Given the description of an element on the screen output the (x, y) to click on. 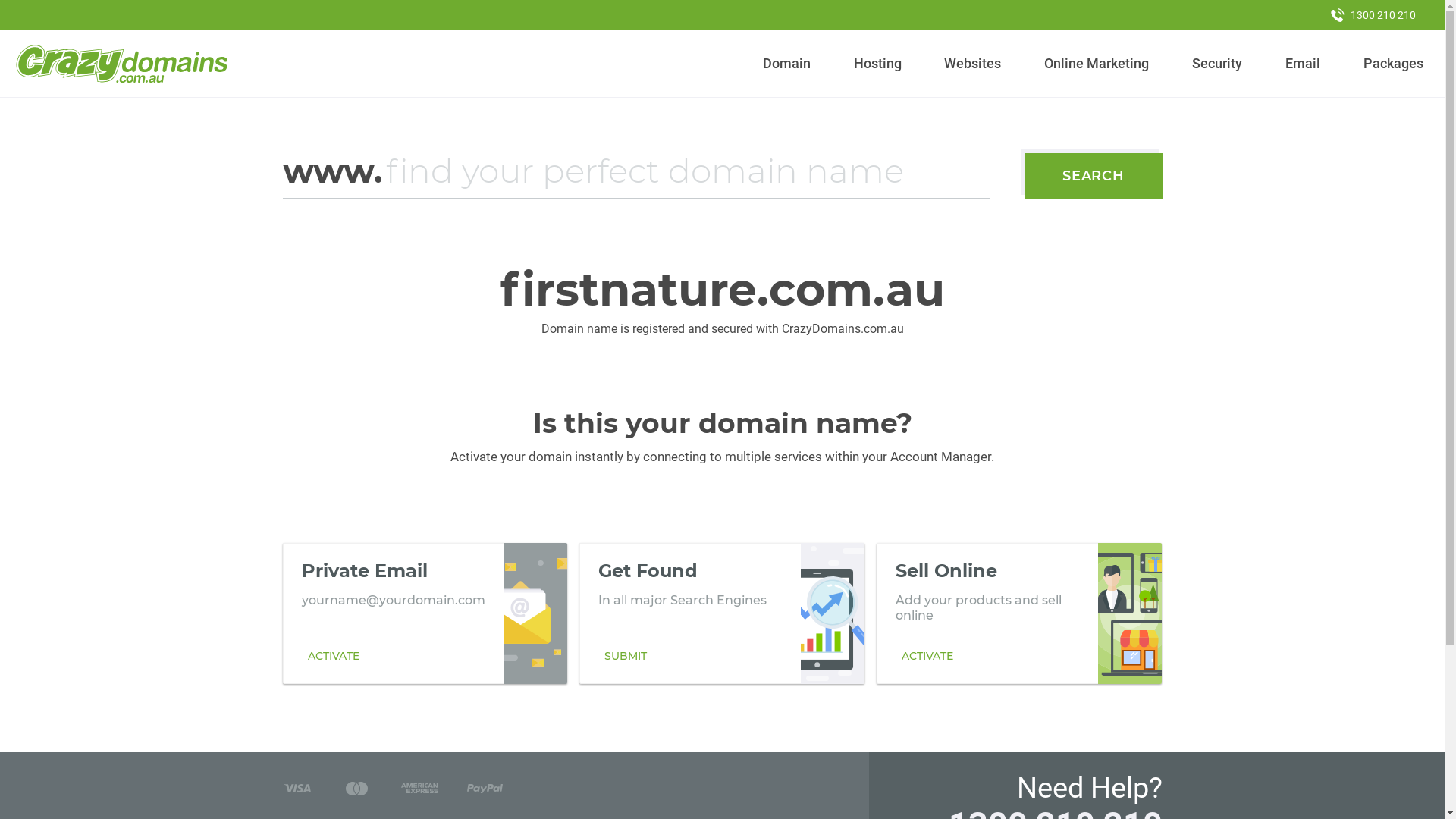
Hosting Element type: text (877, 63)
Security Element type: text (1217, 63)
SEARCH Element type: text (1092, 175)
Email Element type: text (1302, 63)
Websites Element type: text (972, 63)
Get Found
In all major Search Engines
SUBMIT Element type: text (721, 613)
Domain Element type: text (786, 63)
Sell Online
Add your products and sell online
ACTIVATE Element type: text (1018, 613)
Private Email
yourname@yourdomain.com
ACTIVATE Element type: text (424, 613)
Packages Element type: text (1392, 63)
1300 210 210 Element type: text (1373, 15)
Online Marketing Element type: text (1096, 63)
